Given the description of an element on the screen output the (x, y) to click on. 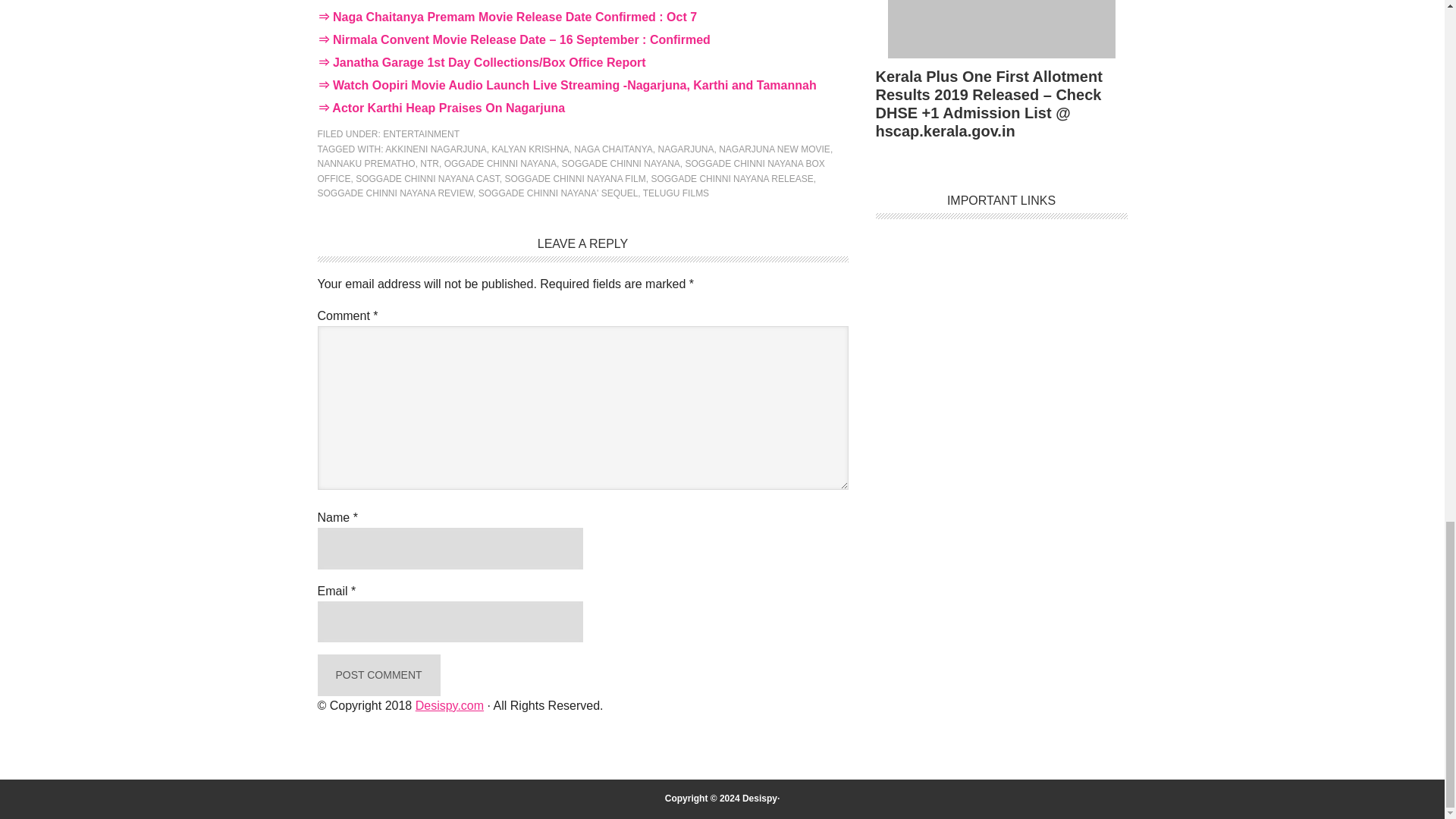
SOGGADE CHINNI NAYANA BOX OFFICE (570, 171)
OGGADE CHINNI NAYANA (500, 163)
SOGGADE CHINNI NAYANA' SEQUEL (559, 193)
NANNAKU PREMATHO (365, 163)
Naga Chaitanya Premam Movie Release Date Confirmed : Oct 7 (515, 16)
Permanent Link toActor Karthi Heap Praises On Nagarjuna (447, 107)
NAGA CHAITANYA (612, 149)
NAGARJUNA NEW MOVIE (774, 149)
NAGARJUNA (686, 149)
Post Comment (378, 675)
SOGGADE CHINNI NAYANA (620, 163)
SOGGADE CHINNI NAYANA CAST (427, 178)
SOGGADE CHINNI NAYANA FILM (574, 178)
